Given the description of an element on the screen output the (x, y) to click on. 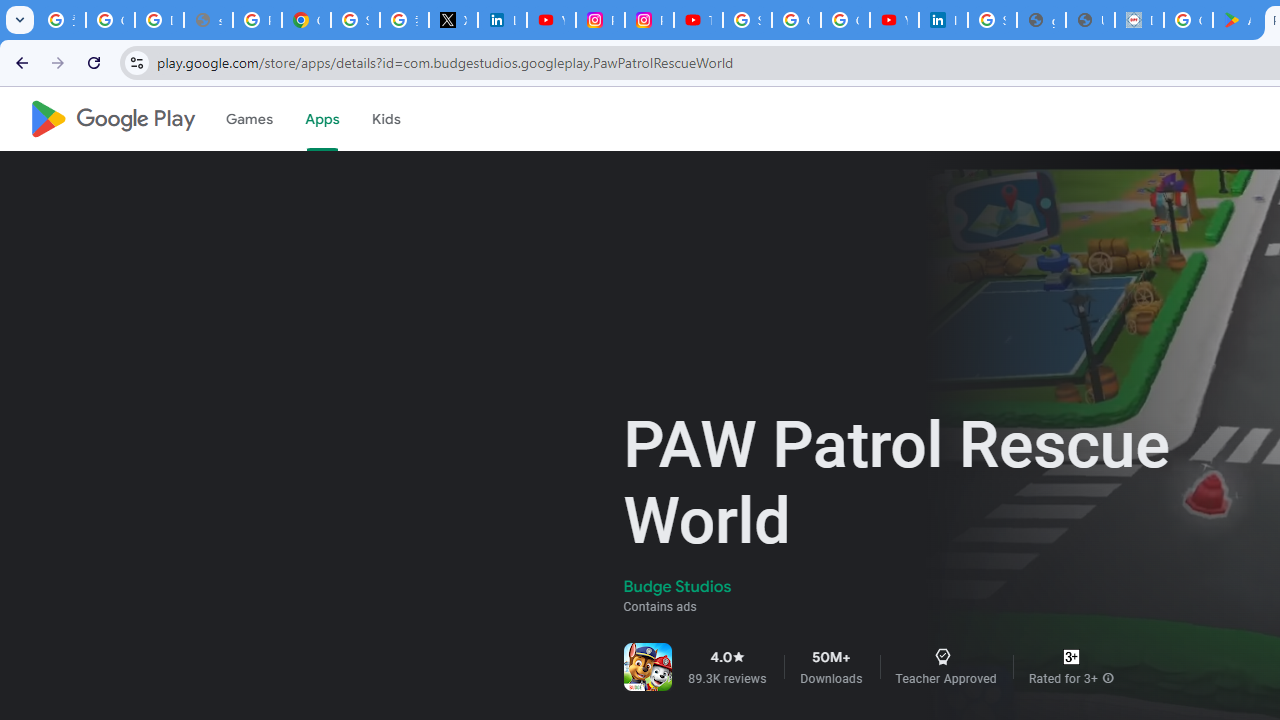
Budge Studios (677, 586)
Google Play logo (111, 119)
X (452, 20)
YouTube Content Monetization Policies - How YouTube Works (551, 20)
